Given the description of an element on the screen output the (x, y) to click on. 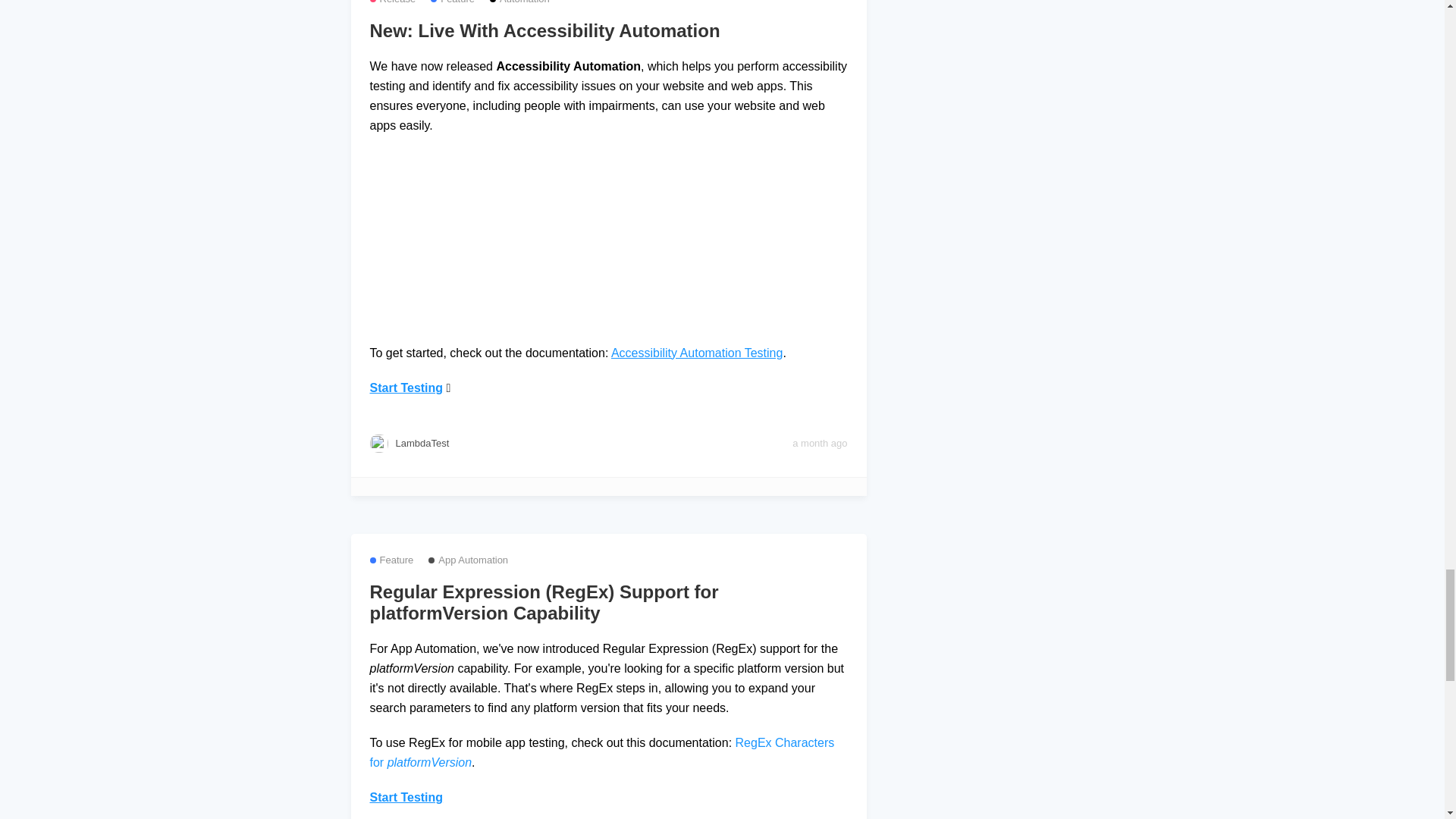
New: Live With Accessibility Automation (608, 30)
Accessibility Automation Testing (697, 352)
